Given the description of an element on the screen output the (x, y) to click on. 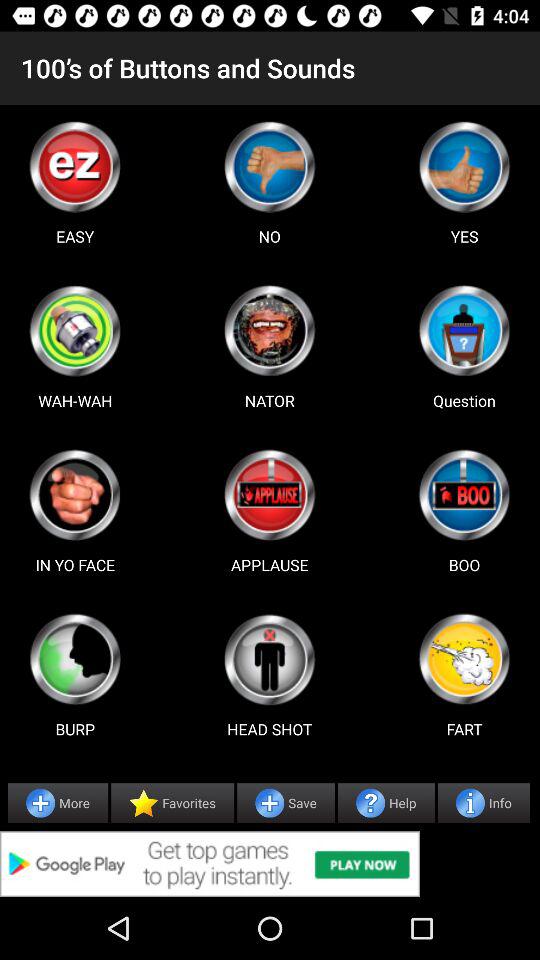
select sound effect (464, 659)
